Given the description of an element on the screen output the (x, y) to click on. 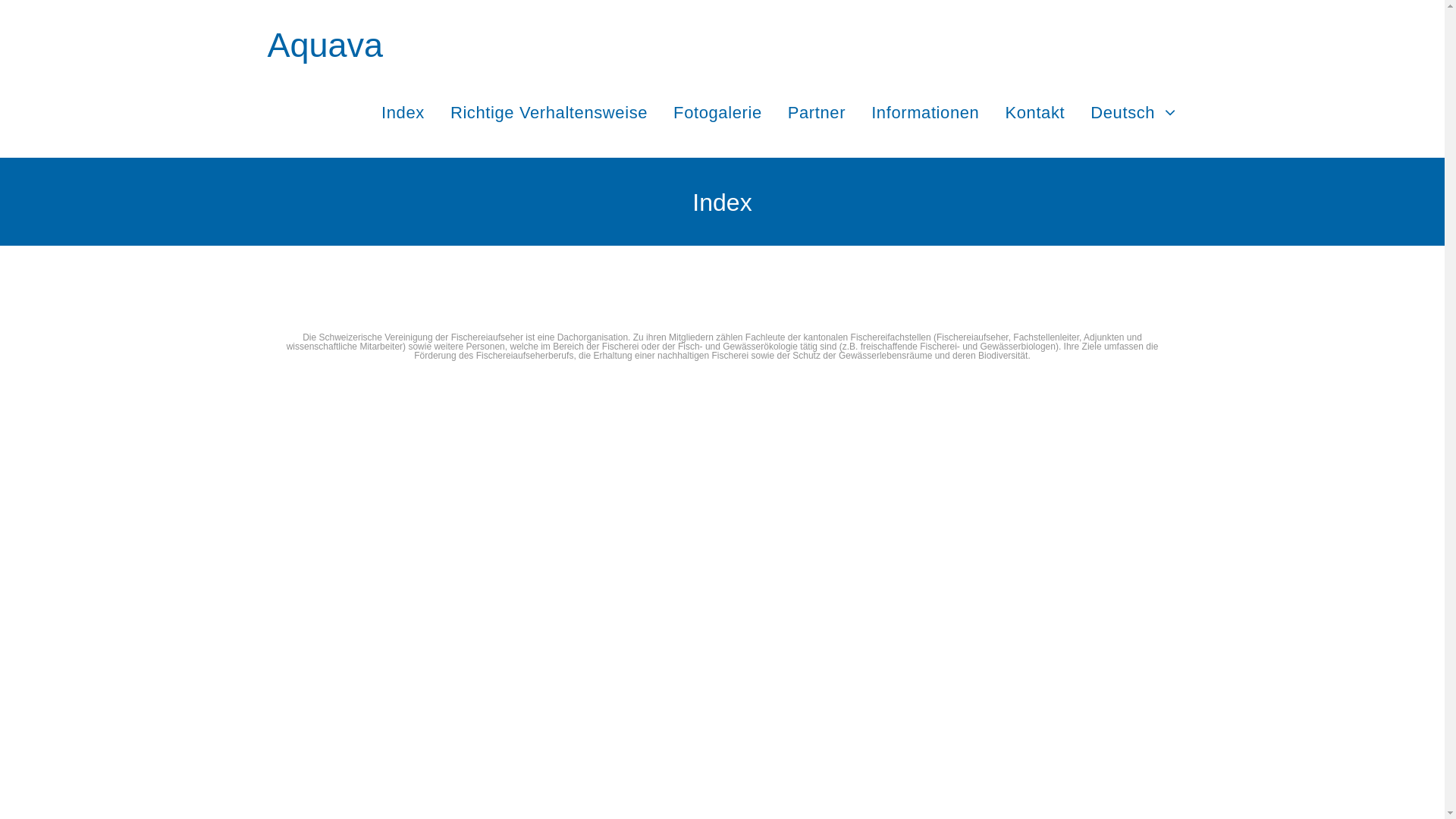
Fotogalerie Element type: text (717, 112)
Index Element type: text (402, 112)
Partner Element type: text (816, 112)
Deutsch Element type: text (1132, 112)
Kontakt Element type: text (1034, 112)
Richtige Verhaltensweise Element type: text (548, 112)
Aquava Element type: text (324, 44)
Informationen Element type: text (924, 112)
